Given the description of an element on the screen output the (x, y) to click on. 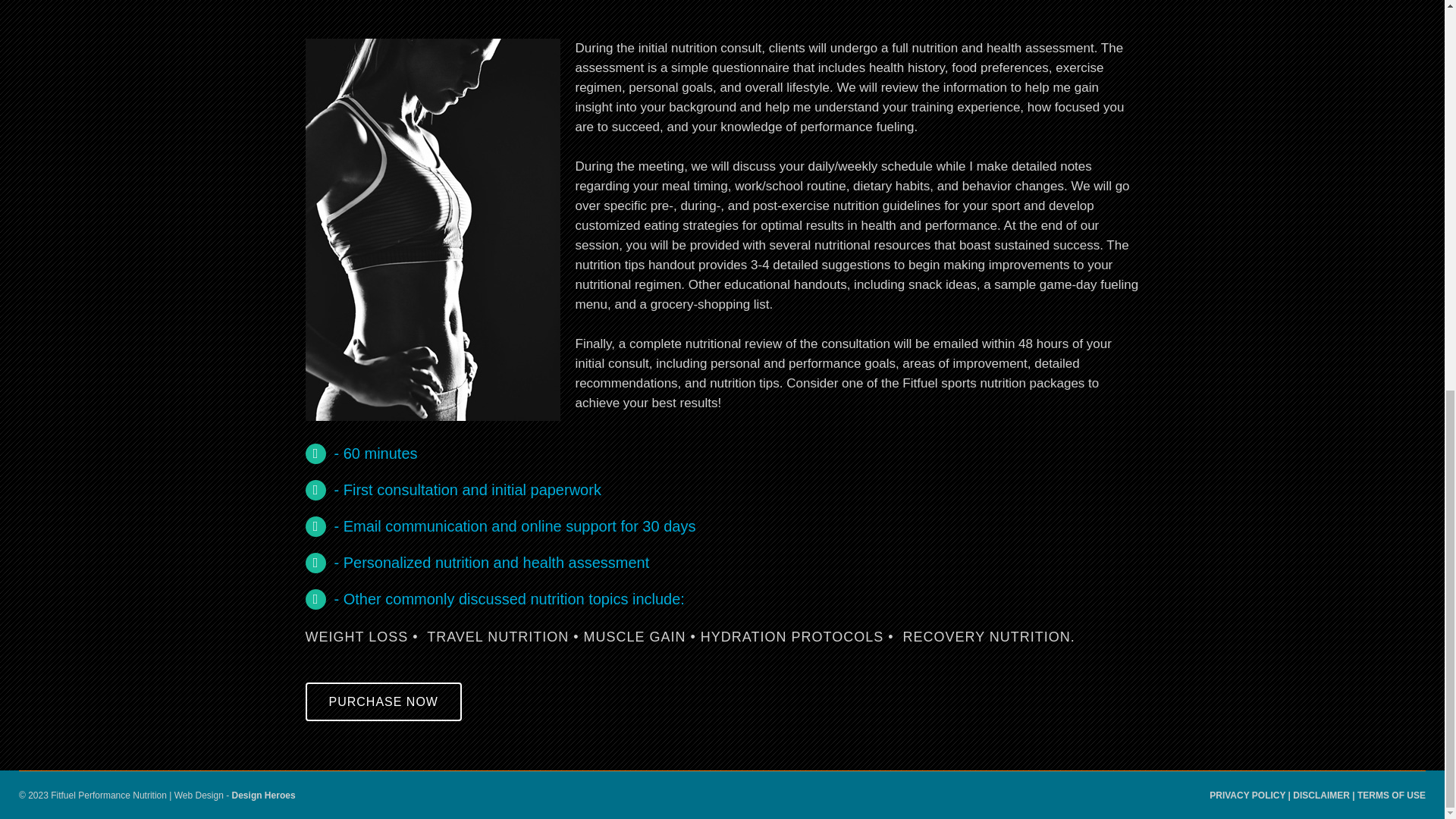
TERMS OF USE (1390, 794)
Design Heroes (263, 794)
PURCHASE NOW (382, 701)
